Given the description of an element on the screen output the (x, y) to click on. 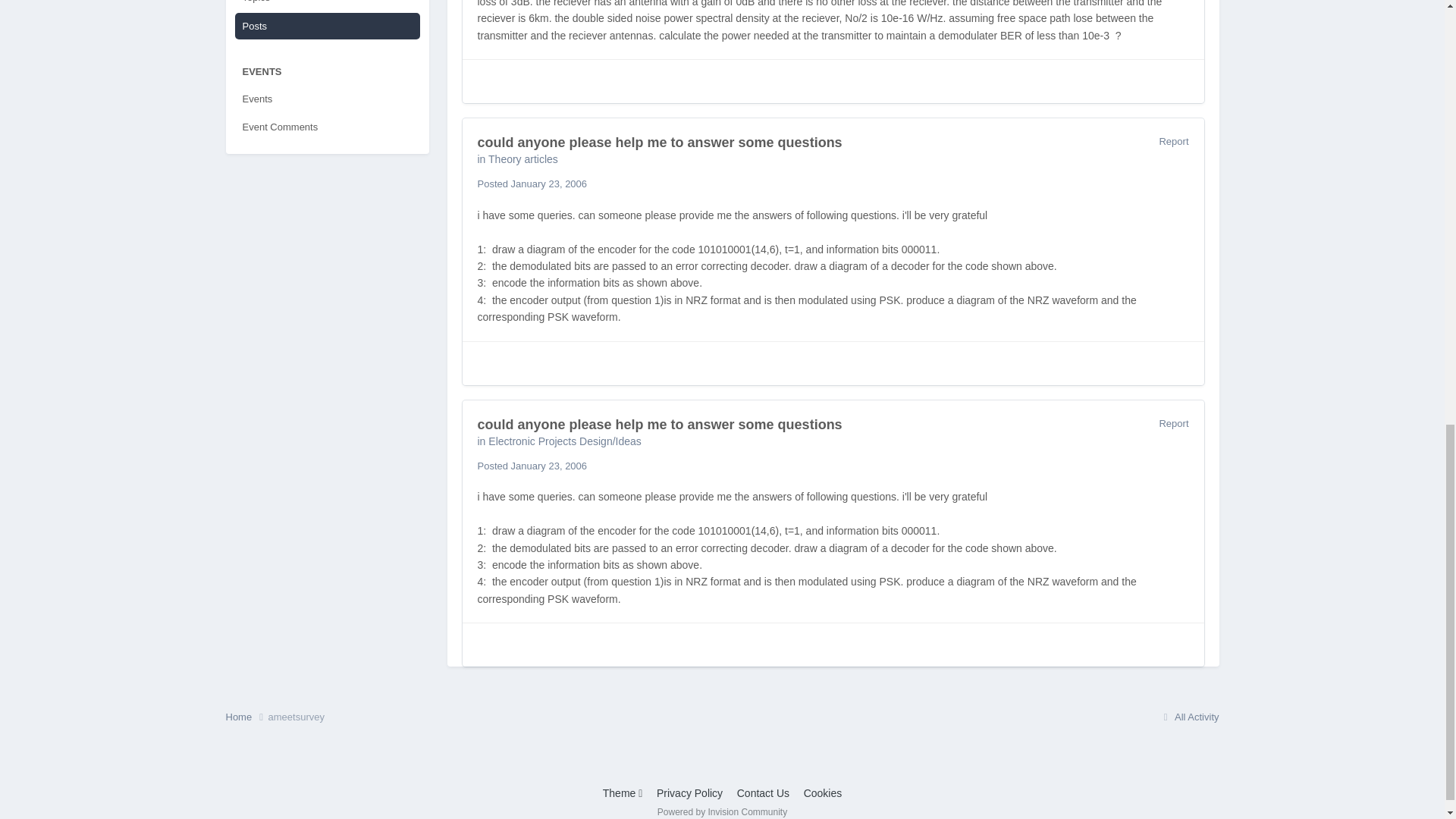
Report this content (1173, 423)
Report this content (1173, 141)
